Given the description of an element on the screen output the (x, y) to click on. 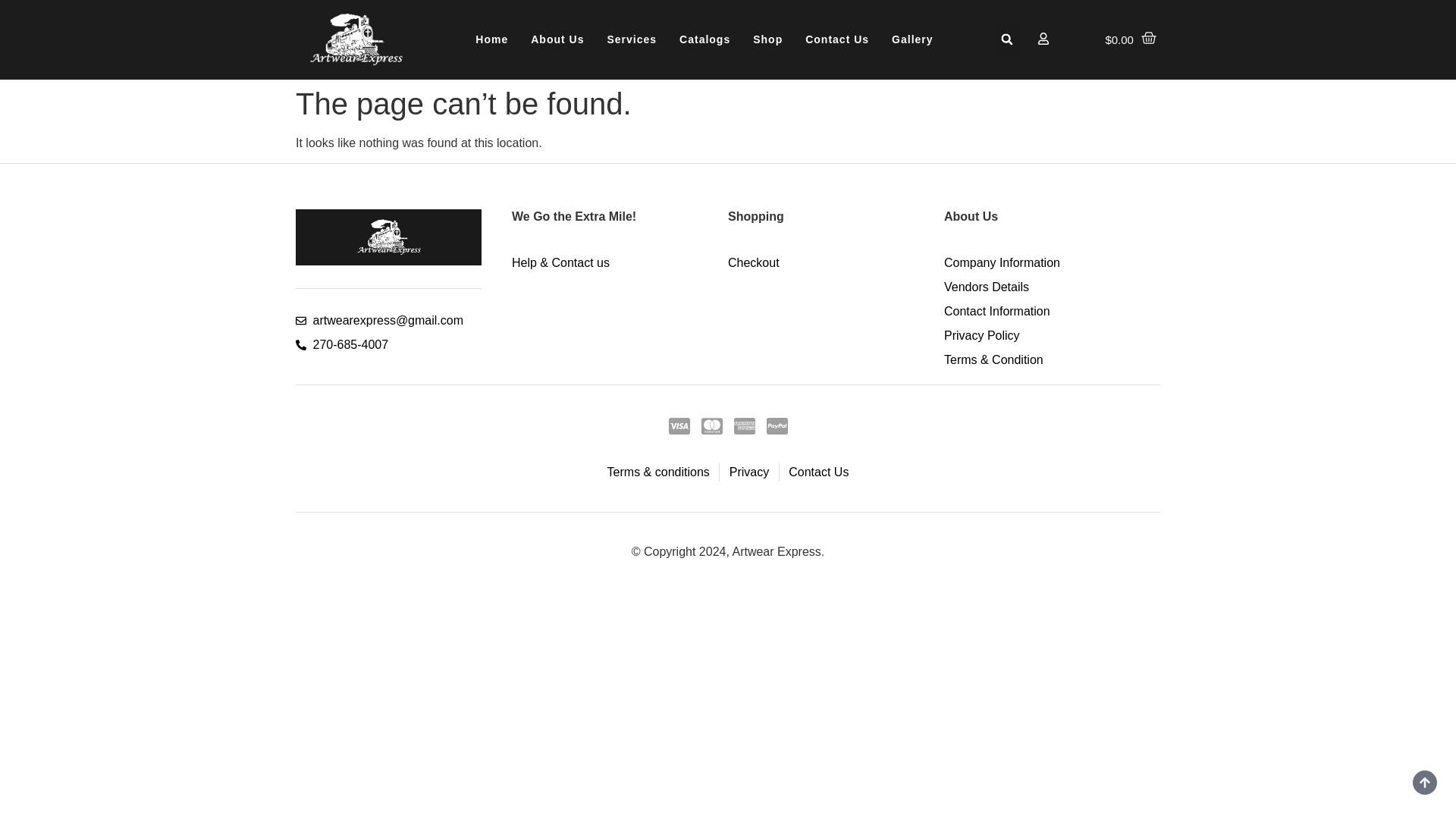
Catalogs (704, 39)
Services (631, 39)
Gallery (911, 39)
About Us (557, 39)
Shop (767, 39)
Contact Us (836, 39)
Home (491, 39)
